Given the description of an element on the screen output the (x, y) to click on. 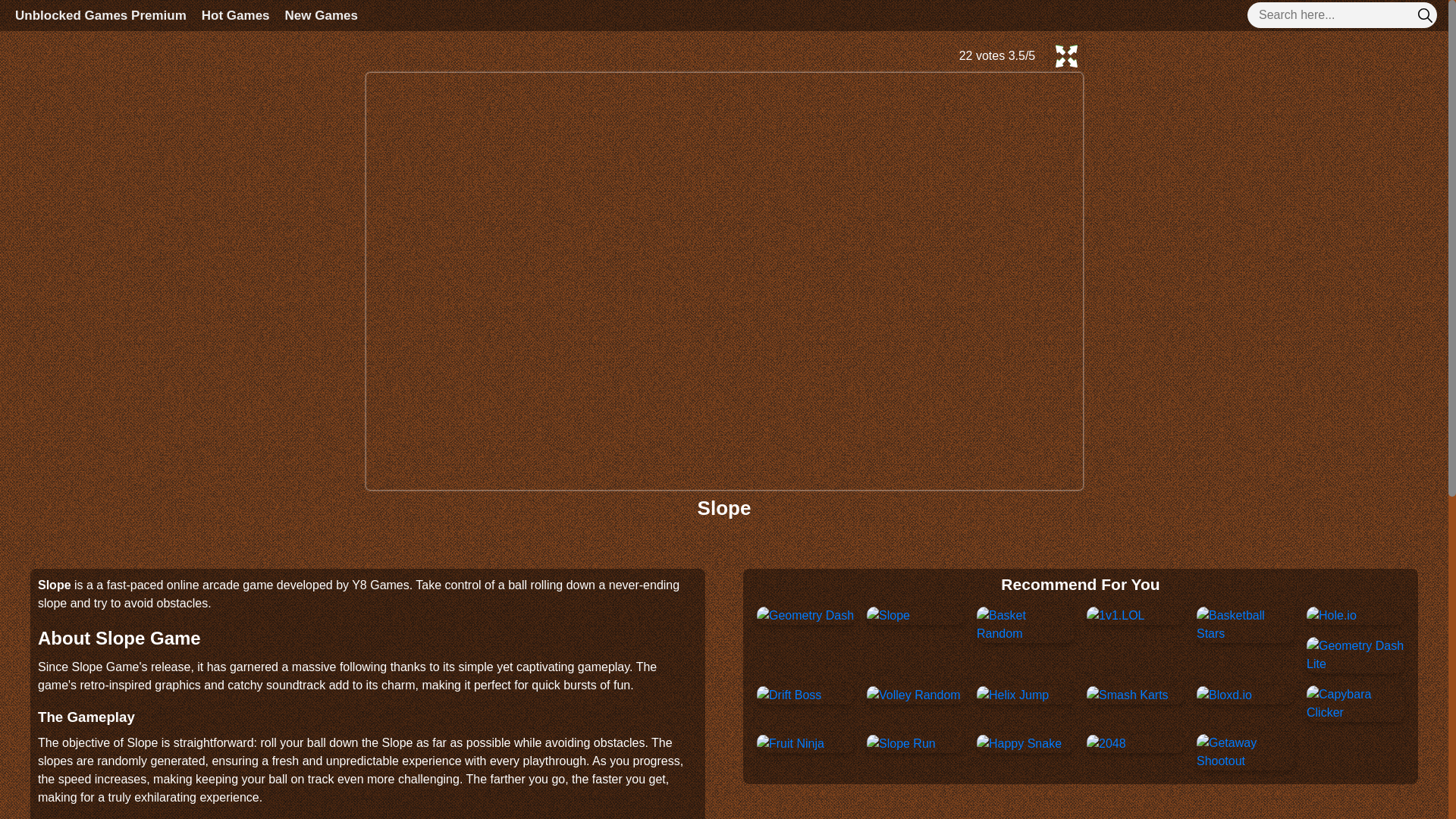
Basket Random (1025, 624)
Geometry Dash (805, 615)
2048 (1105, 743)
Slope Run (901, 743)
Basketball Stars (1245, 624)
Helix Jump (1012, 695)
Smash Karts (1127, 695)
Unblocked Games Premium (100, 15)
Geometry Dash Lite (1355, 655)
Fruit Ninja (790, 743)
